Given the description of an element on the screen output the (x, y) to click on. 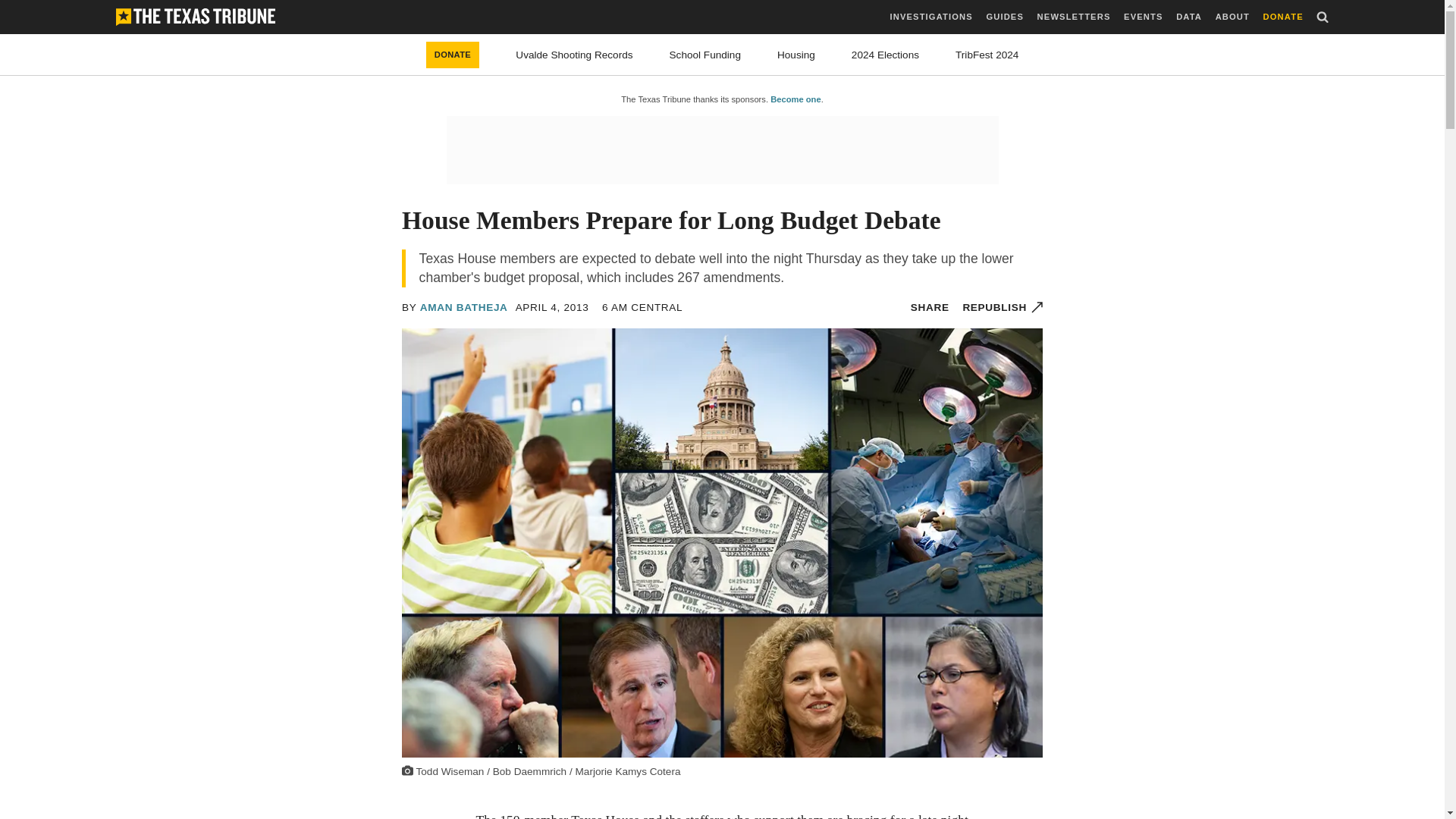
DONATE (1283, 17)
DONATE (453, 54)
TribFest 2024 (986, 54)
REPUBLISH (1002, 307)
Become one (795, 99)
2013-04-04 06:00 CDT (642, 307)
Sign up (794, 446)
Uvalde Shooting Records (573, 54)
INVESTIGATIONS (930, 17)
GUIDES (1004, 17)
